Given the description of an element on the screen output the (x, y) to click on. 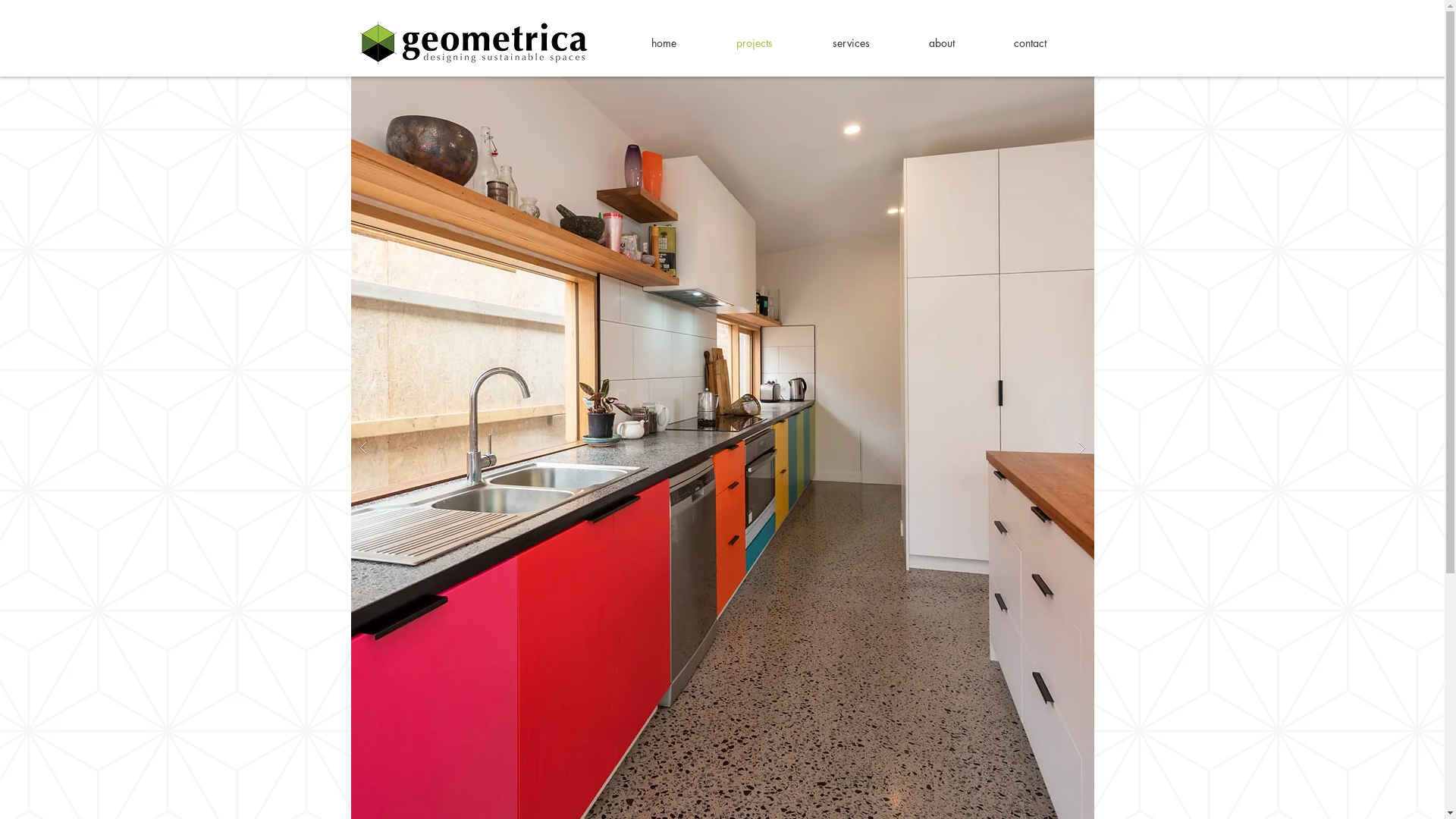
services Element type: text (868, 42)
home Element type: text (682, 42)
projects Element type: text (772, 42)
about Element type: text (959, 42)
contact Element type: text (1048, 42)
